Given the description of an element on the screen output the (x, y) to click on. 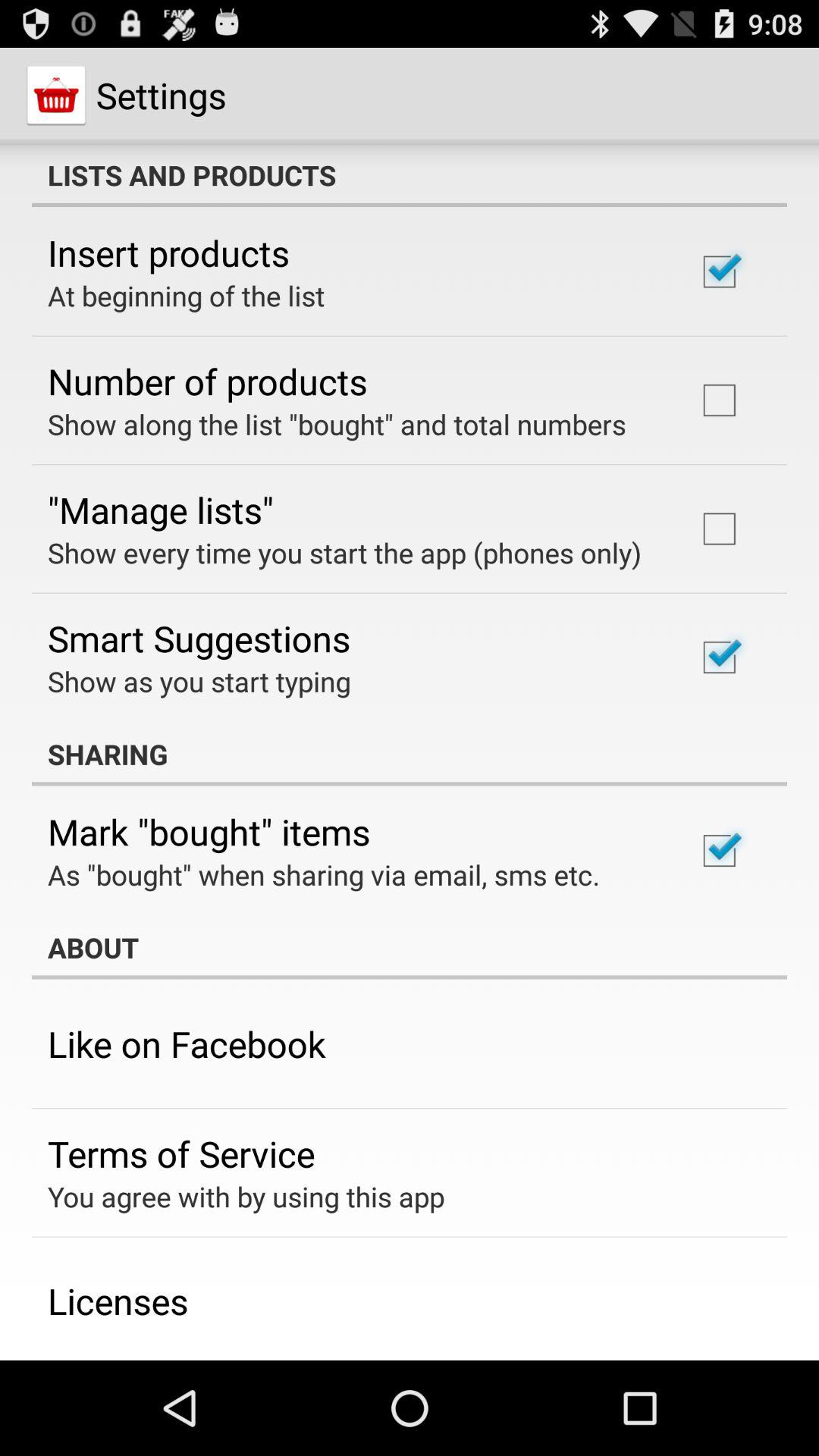
click the icon below the about icon (186, 1043)
